Given the description of an element on the screen output the (x, y) to click on. 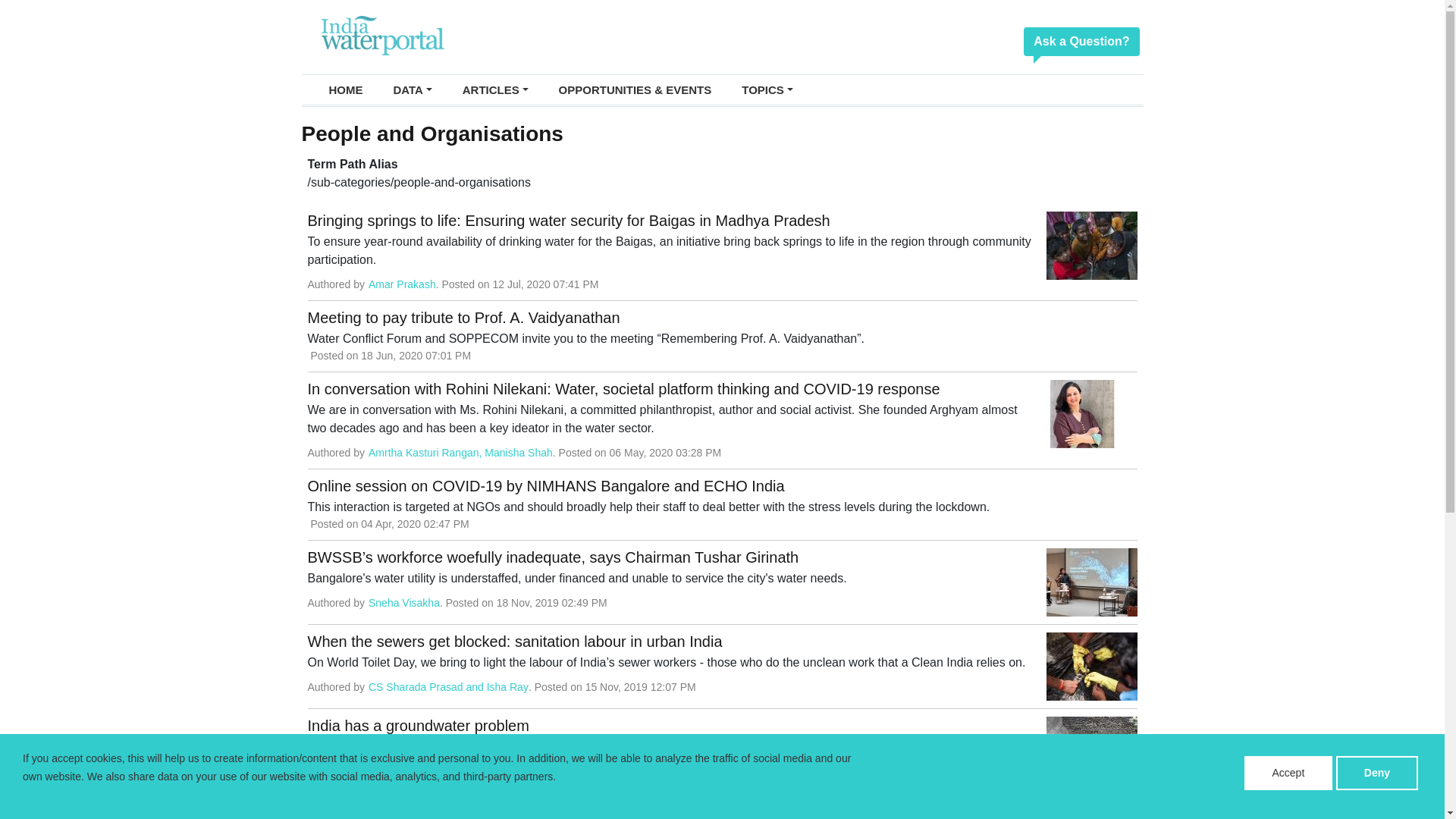
Expand menu Articles (494, 89)
Expand menu Data (411, 89)
Ask a Question (1080, 41)
Expand menu Topics (767, 89)
DATA (411, 89)
TOPICS (767, 89)
Ask a Question? (1080, 41)
HOME (346, 89)
ARTICLES (494, 89)
